Given the description of an element on the screen output the (x, y) to click on. 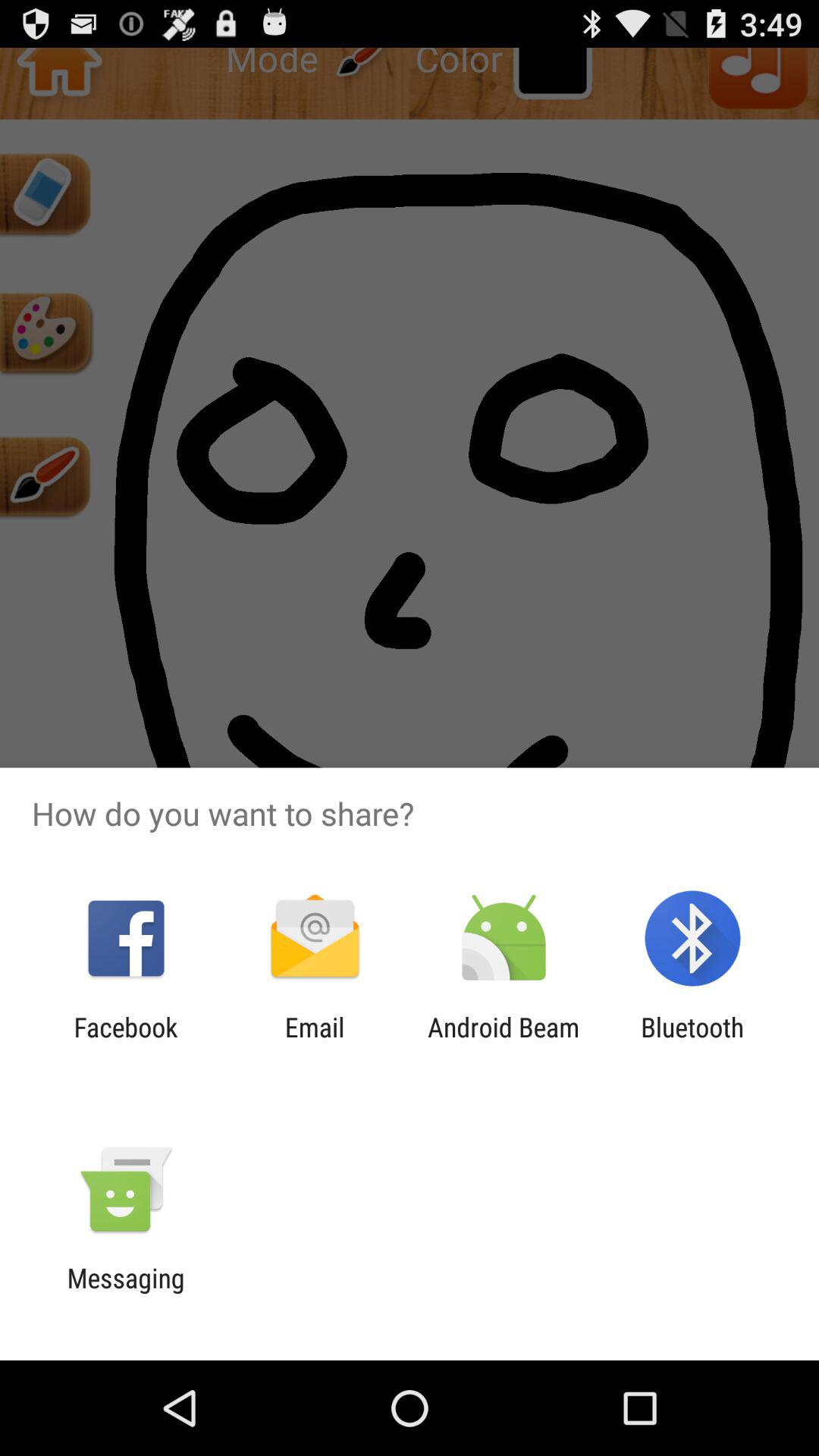
turn off the item to the right of the email (503, 1042)
